Given the description of an element on the screen output the (x, y) to click on. 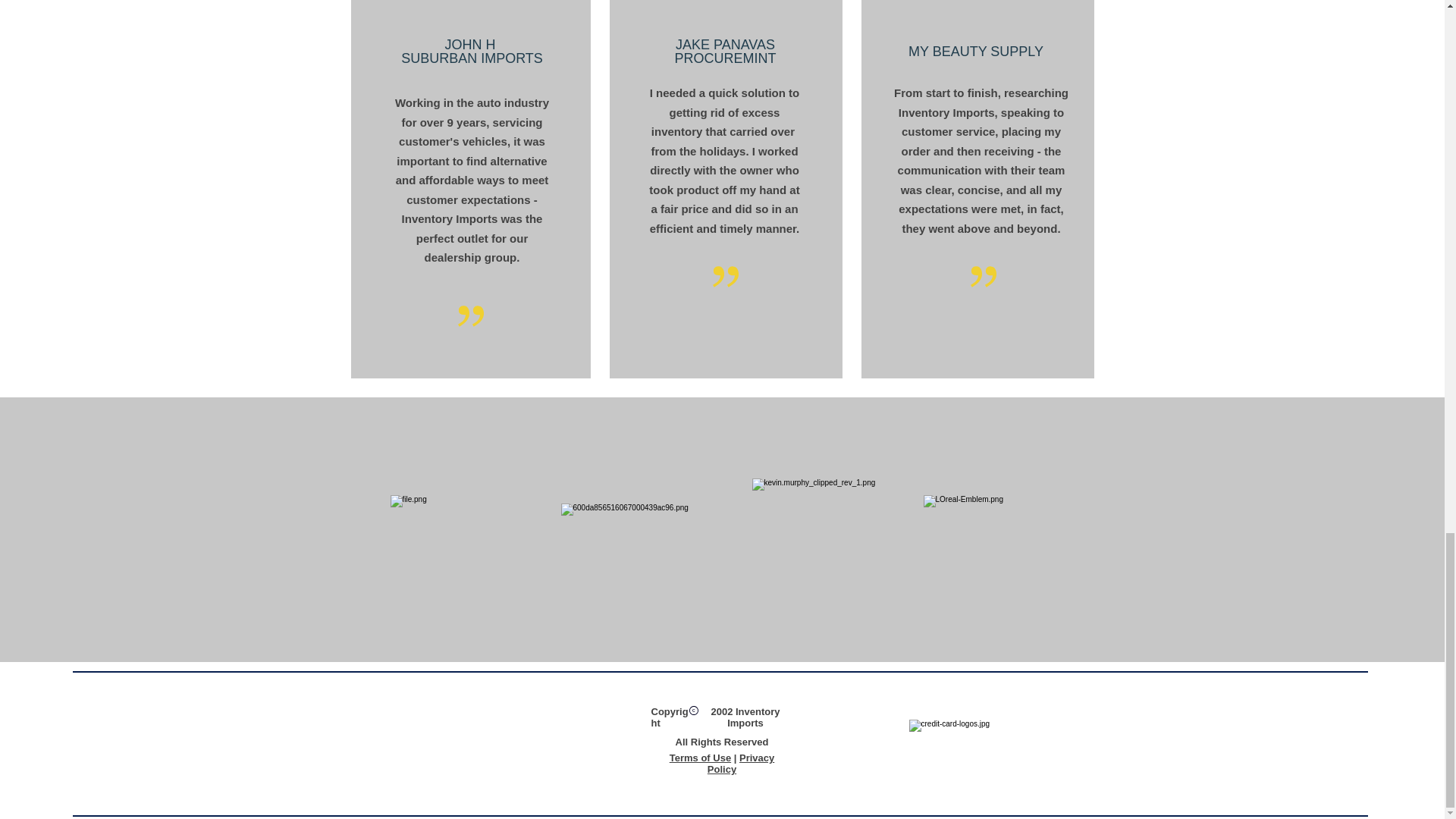
2002 Inventory Imports (744, 716)
Privacy Policy (740, 763)
All Rights Reserved (721, 741)
Copyright (668, 716)
Terms of Use (699, 757)
